Given the description of an element on the screen output the (x, y) to click on. 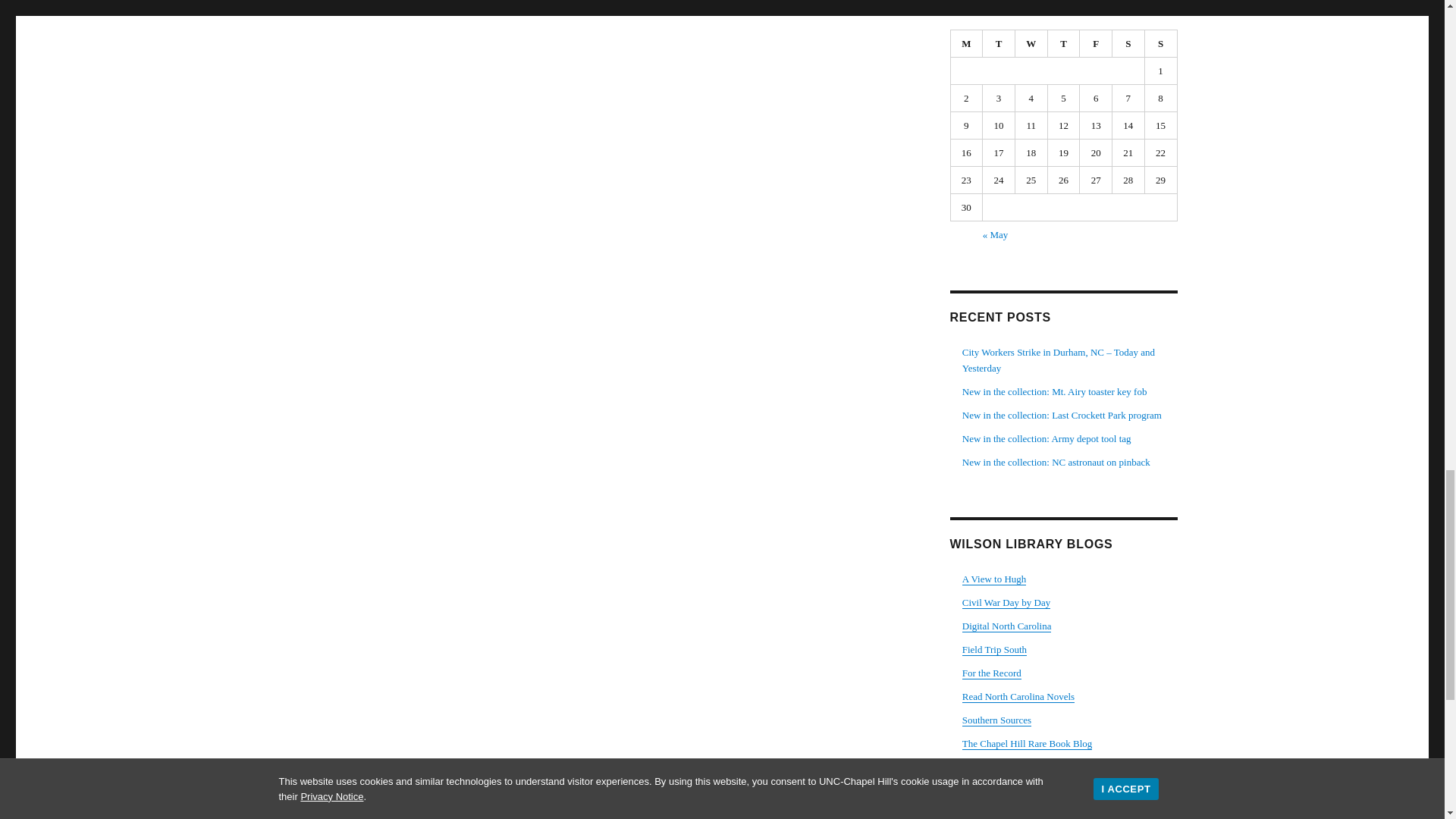
Friday (1096, 43)
Sunday (1160, 43)
Thursday (1064, 43)
Monday (967, 43)
 Processing the Hugh Morton Photographs and Films (994, 578)
Highlights from the North Carolina Digital Heritage Center (1006, 625)
Saturday (1128, 43)
A guide to recent fiction set in North Carolina (1018, 696)
 Exploring the Southern Folklife Collection (994, 649)
